Given the description of an element on the screen output the (x, y) to click on. 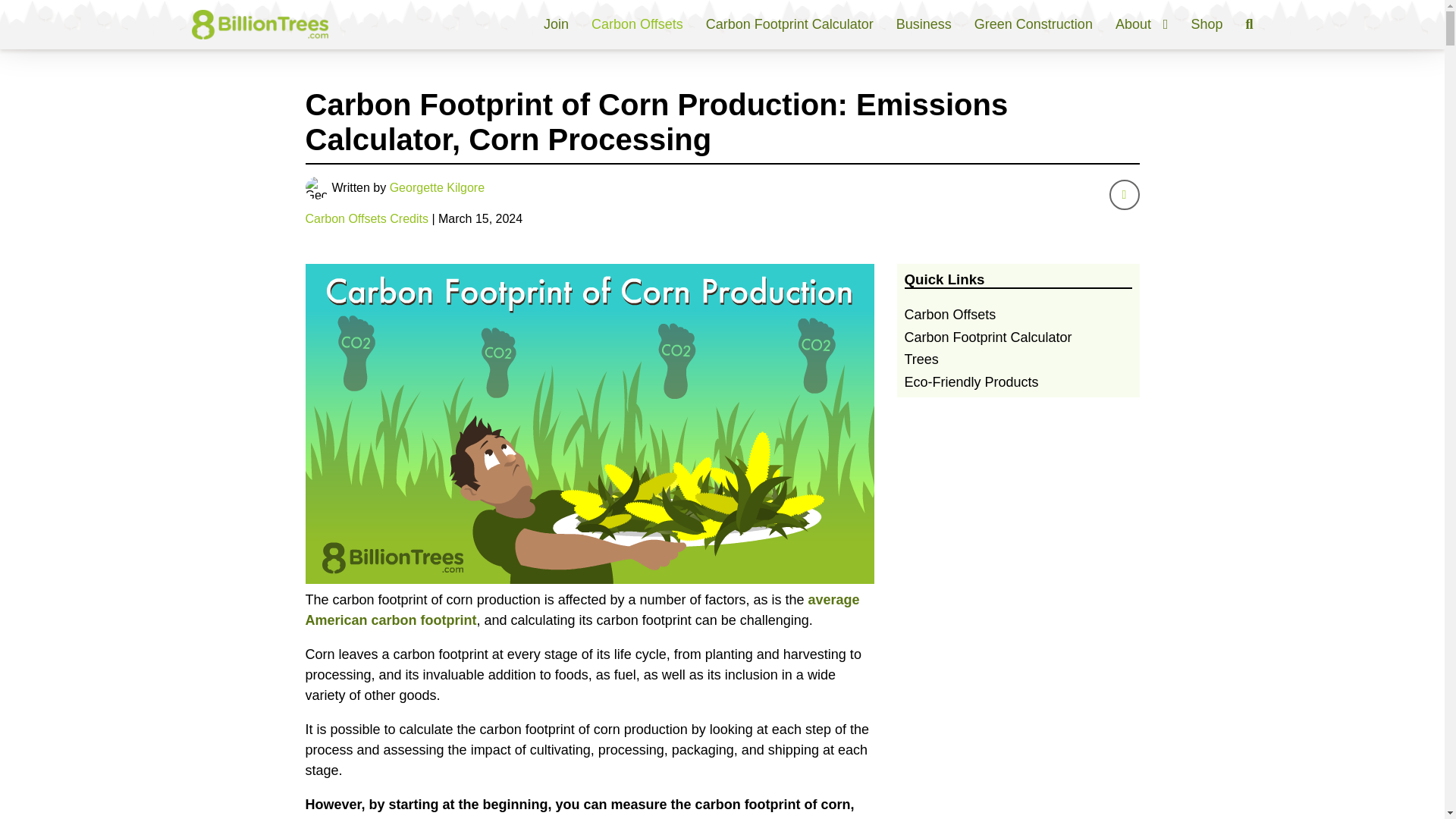
average American carbon footprint (581, 610)
Carbon Offsets Credits (366, 218)
Business (924, 24)
Georgette Kilgore (437, 187)
Green Construction (1033, 24)
Carbon Offsets (636, 24)
About (1142, 24)
Shop (1207, 24)
Carbon Footprint Calculator (789, 24)
